Given the description of an element on the screen output the (x, y) to click on. 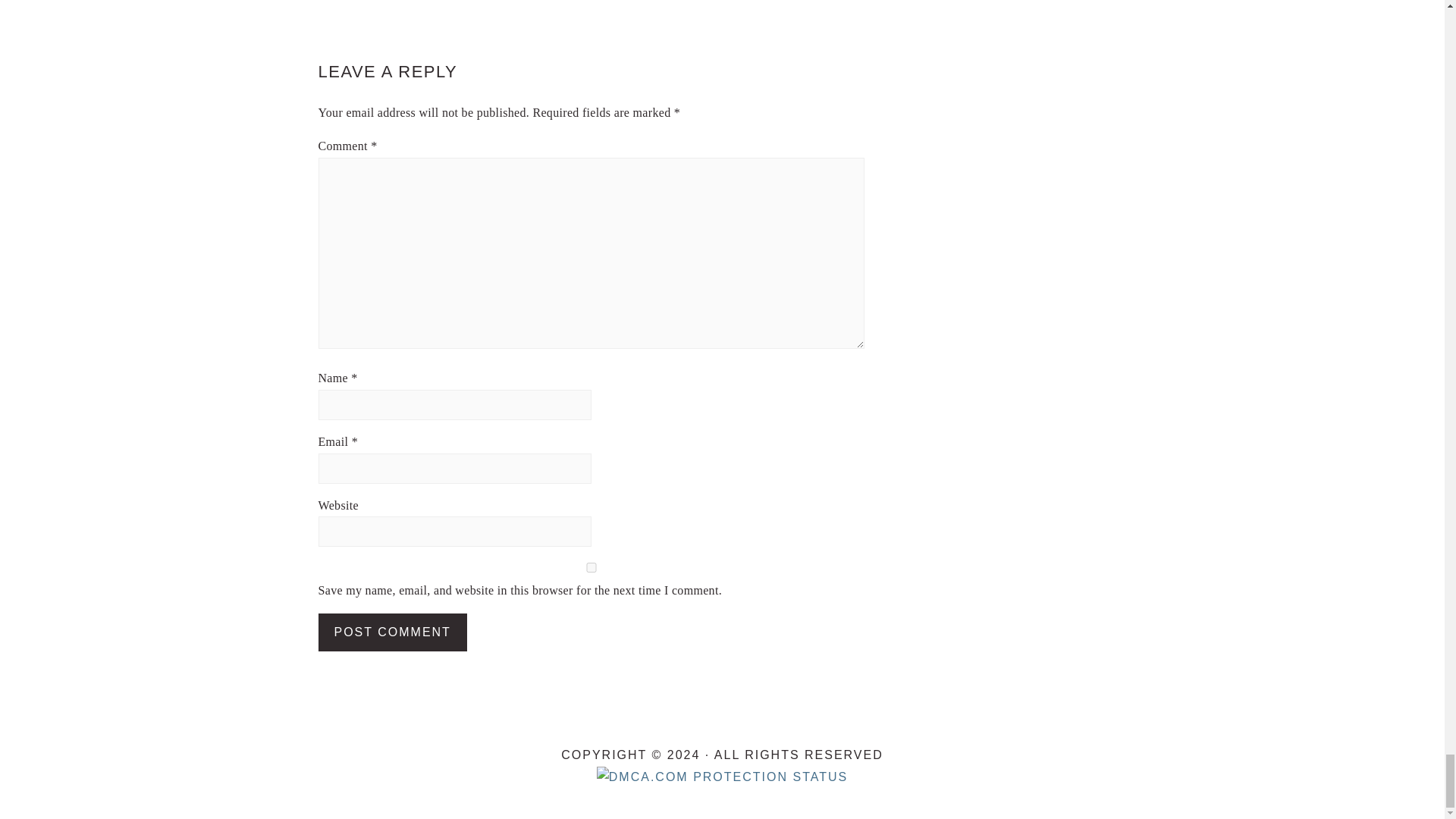
yes (591, 567)
Post Comment (392, 632)
